Given the description of an element on the screen output the (x, y) to click on. 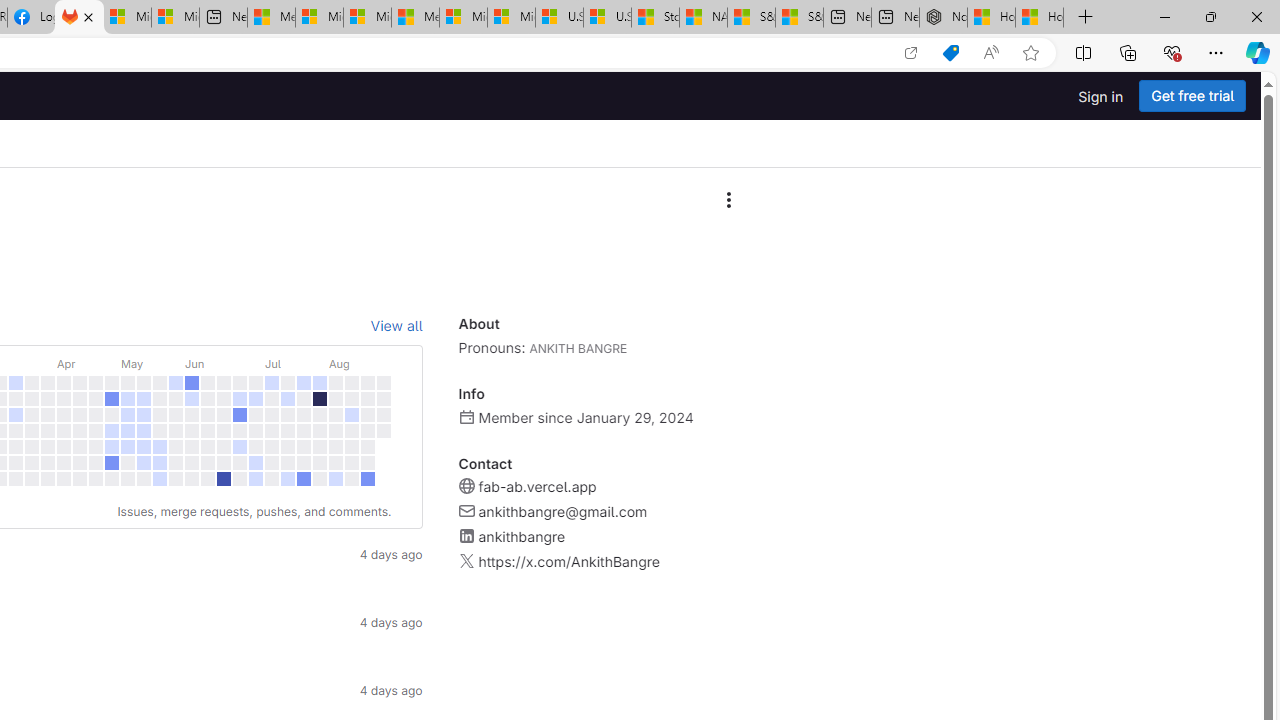
Browser essentials (1171, 52)
